Given the description of an element on the screen output the (x, y) to click on. 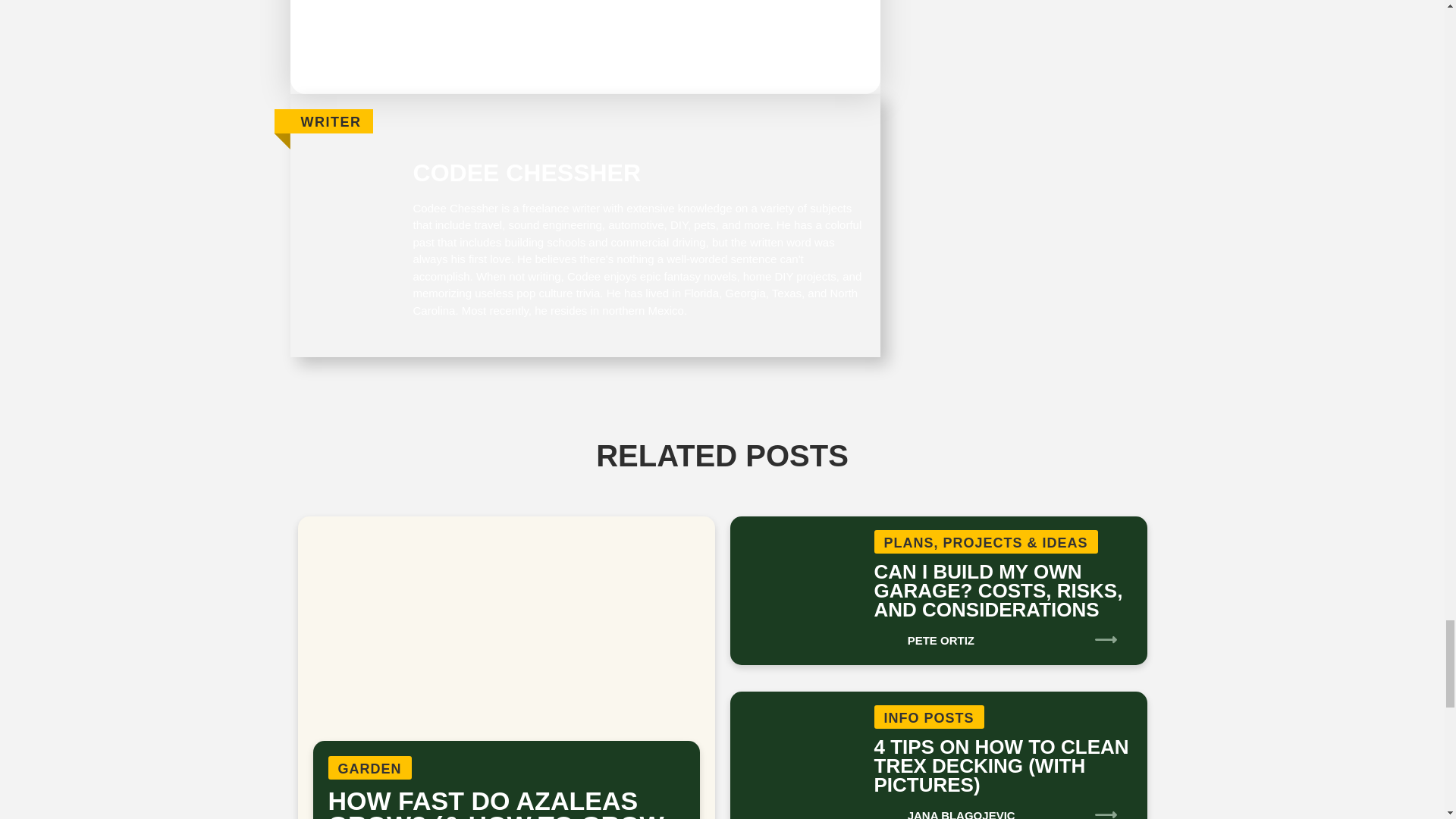
CAN I BUILD MY OWN GARAGE? COSTS, RISKS, AND CONSIDERATIONS (997, 590)
PETE ORTIZ (923, 635)
JANA BLAGOJEVIC (943, 806)
